Given the description of an element on the screen output the (x, y) to click on. 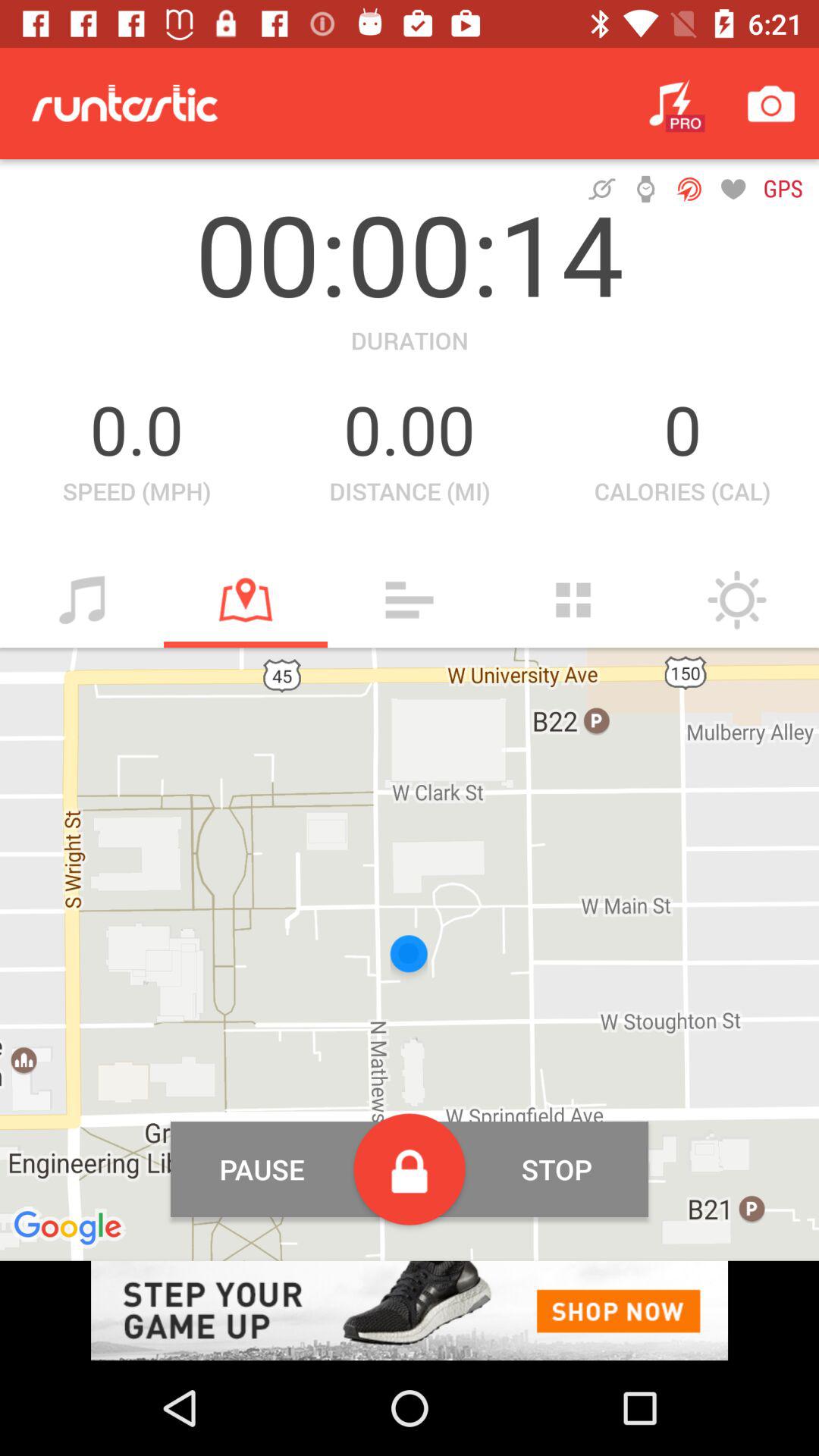
grid view (573, 599)
